Given the description of an element on the screen output the (x, y) to click on. 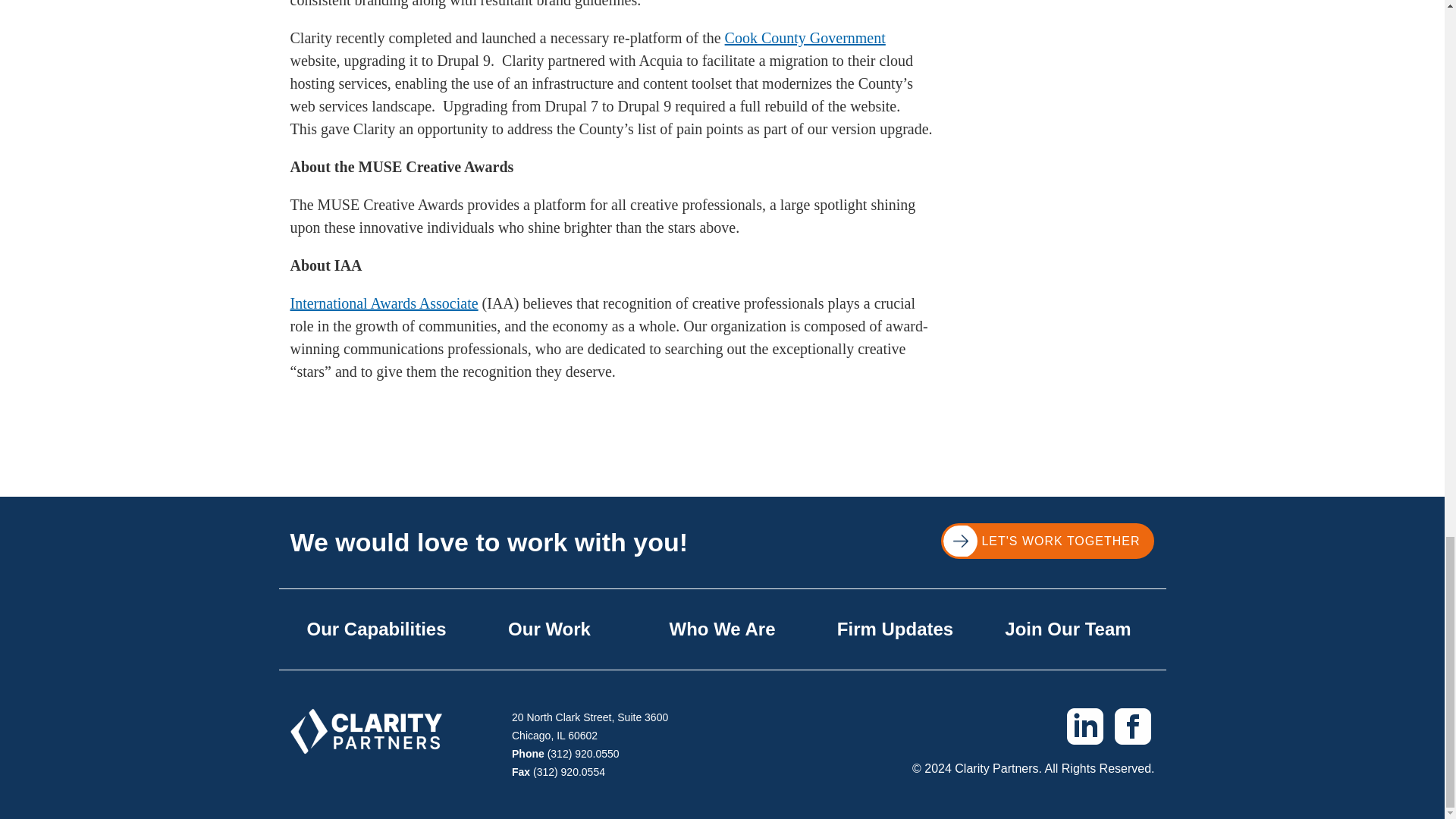
Like Us on Facebook (1133, 724)
Cook County Government (805, 37)
Join Us on LinkedIn (1083, 724)
